Given the description of an element on the screen output the (x, y) to click on. 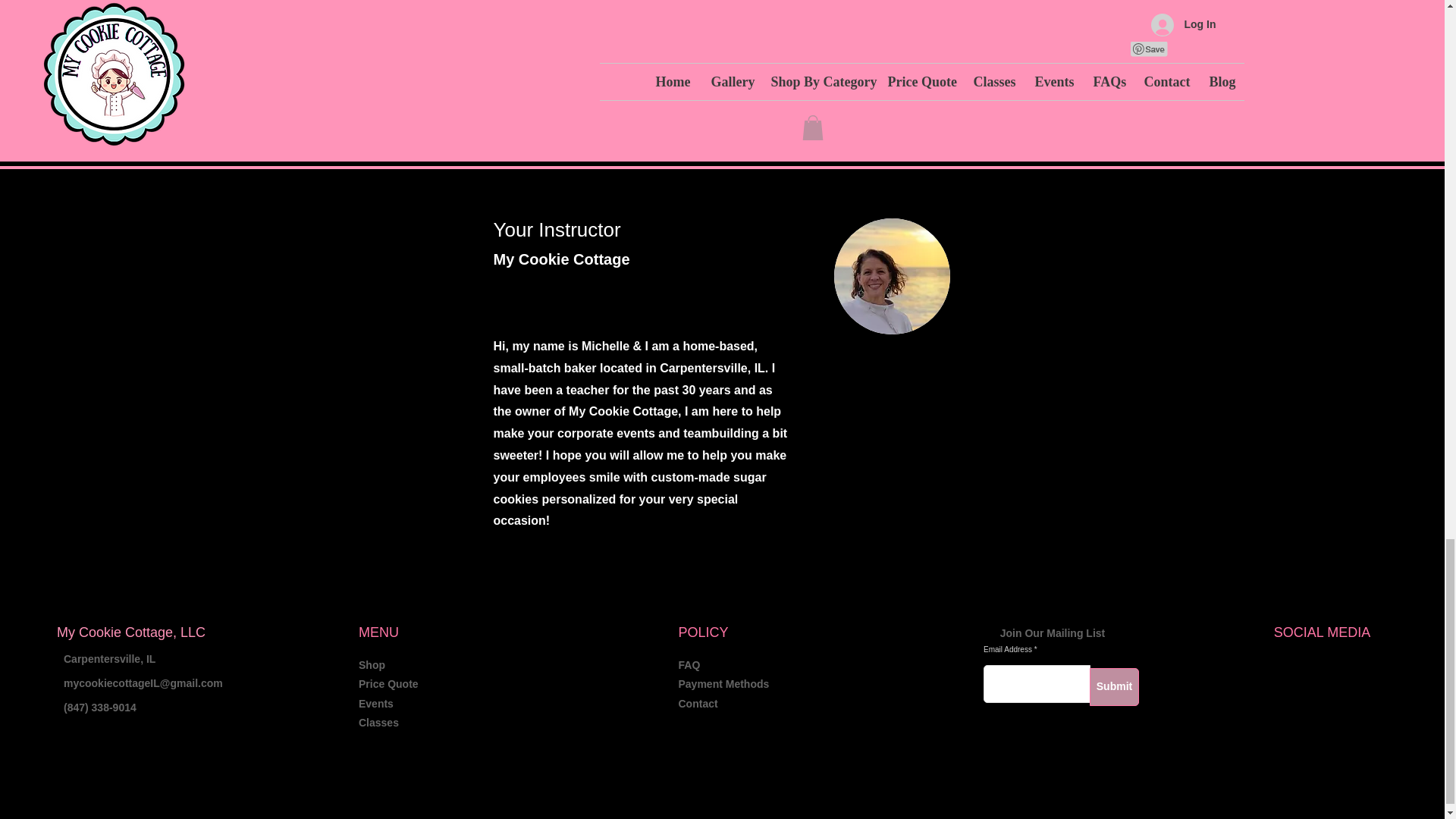
Contact (697, 703)
Events (375, 703)
Classes (378, 722)
FAQ (689, 664)
Submit (1113, 686)
Price Quote (388, 684)
